Given the description of an element on the screen output the (x, y) to click on. 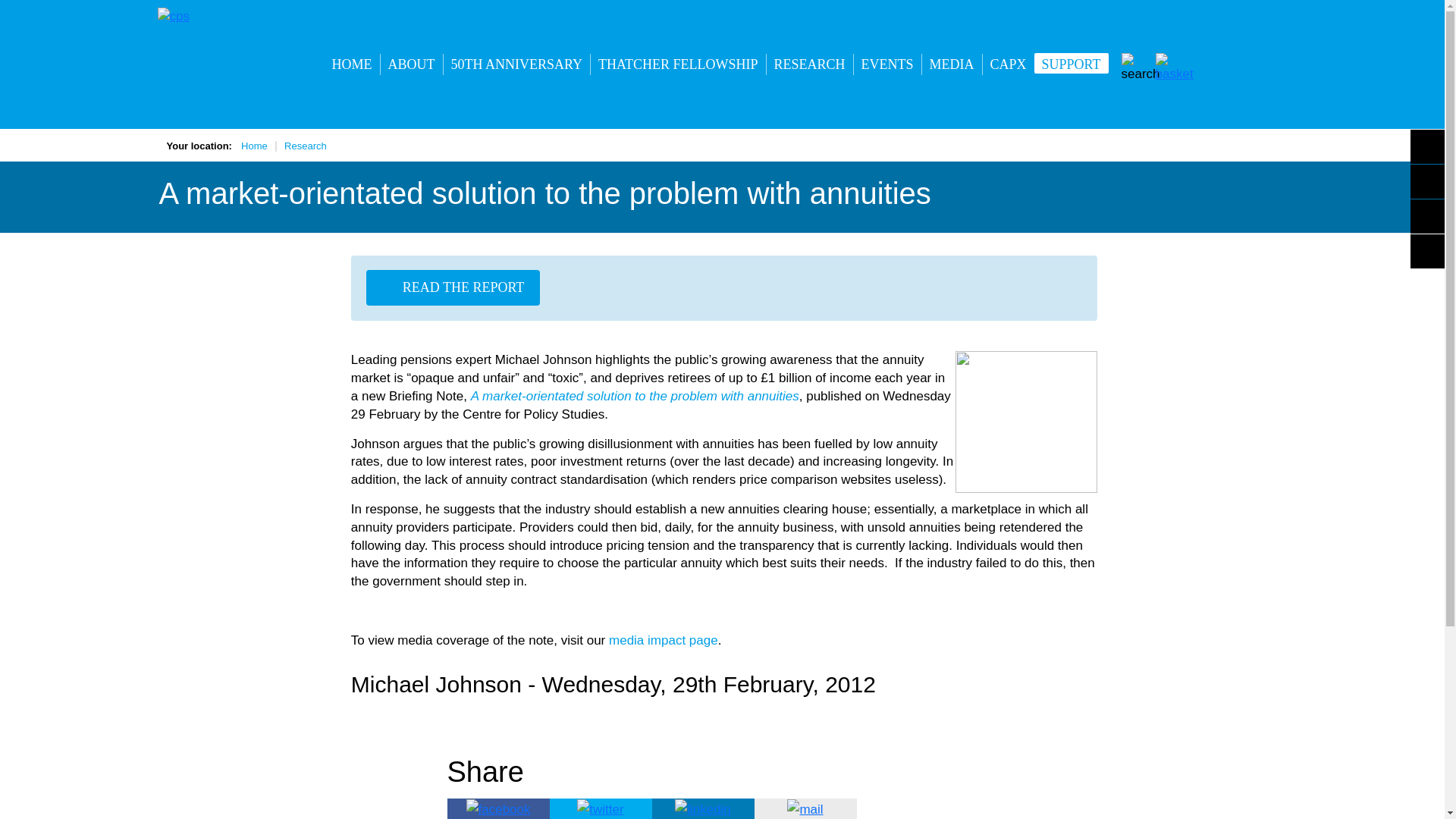
media impact page (662, 640)
ABOUT (411, 64)
RESEARCH (810, 64)
READ THE REPORT (453, 287)
EVENTS (887, 64)
HOME (352, 64)
50TH ANNIVERSARY (515, 64)
MEDIA (951, 64)
Research (304, 145)
THATCHER FELLOWSHIP (678, 64)
